Given the description of an element on the screen output the (x, y) to click on. 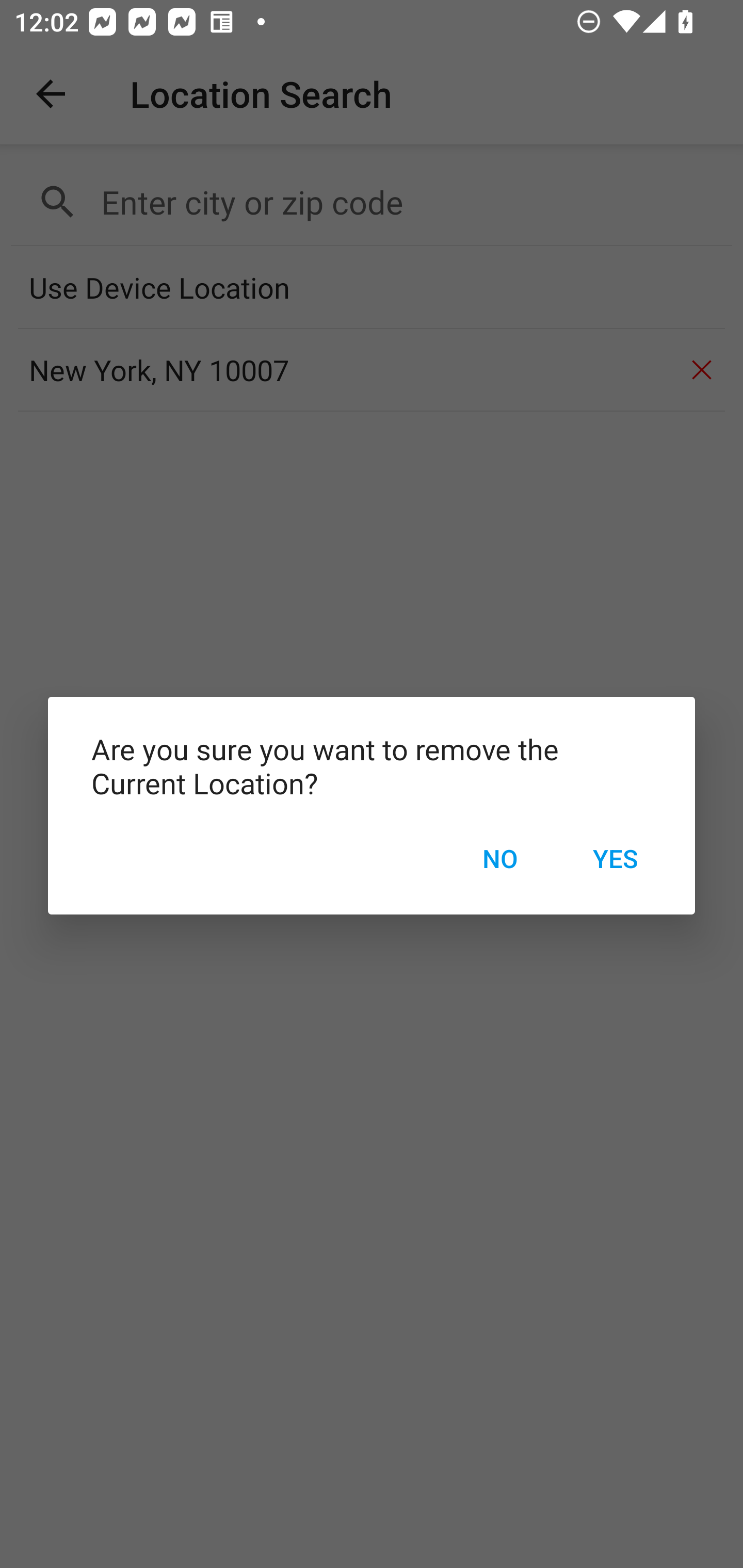
NO (499, 858)
YES (615, 858)
